Given the description of an element on the screen output the (x, y) to click on. 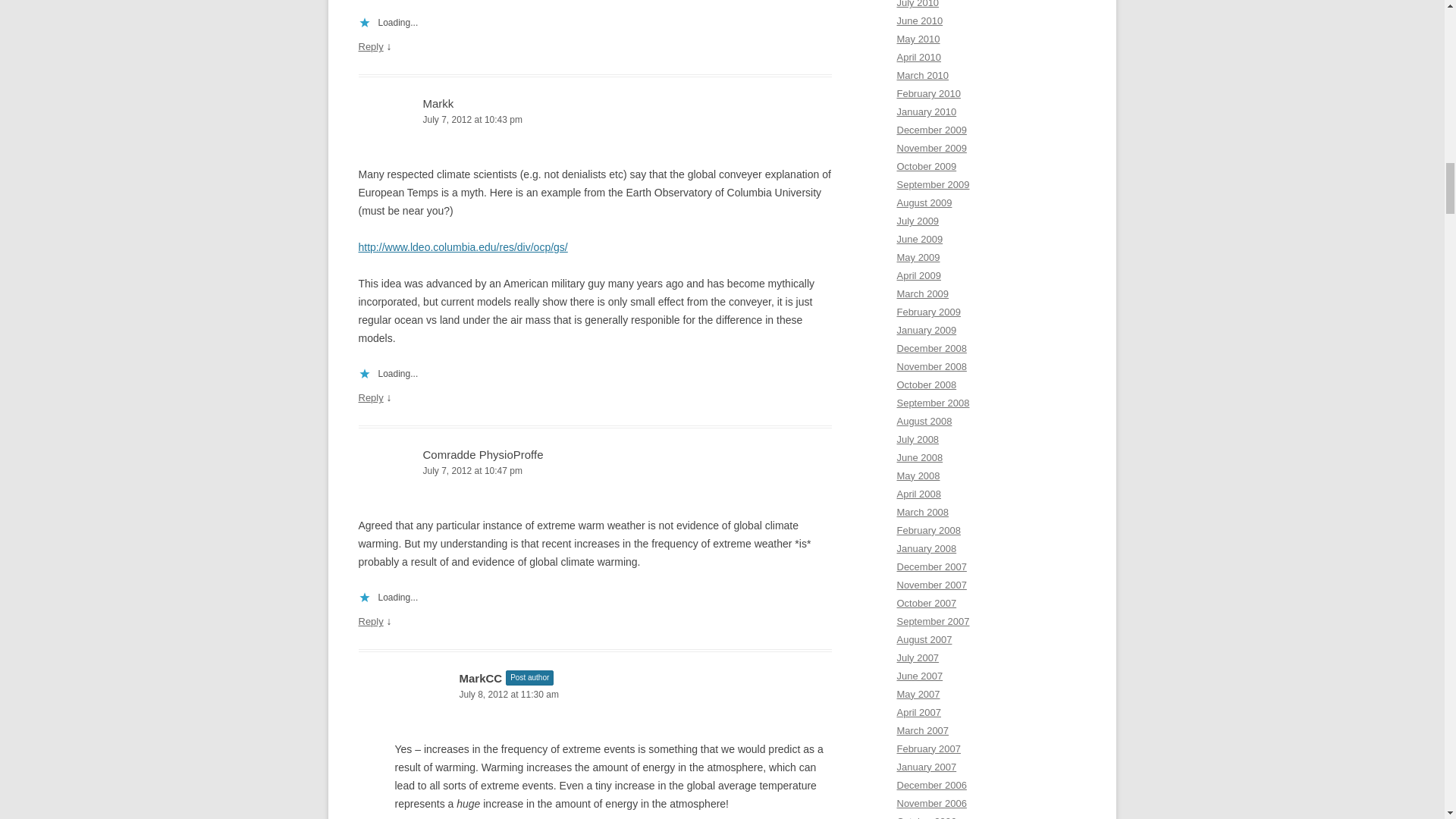
Comradde PhysioProffe (483, 454)
Reply (370, 46)
Reply (370, 397)
Reply (370, 621)
July 7, 2012 at 10:43 pm (594, 119)
July 8, 2012 at 11:30 am (612, 694)
July 7, 2012 at 10:47 pm (594, 471)
